Given the description of an element on the screen output the (x, y) to click on. 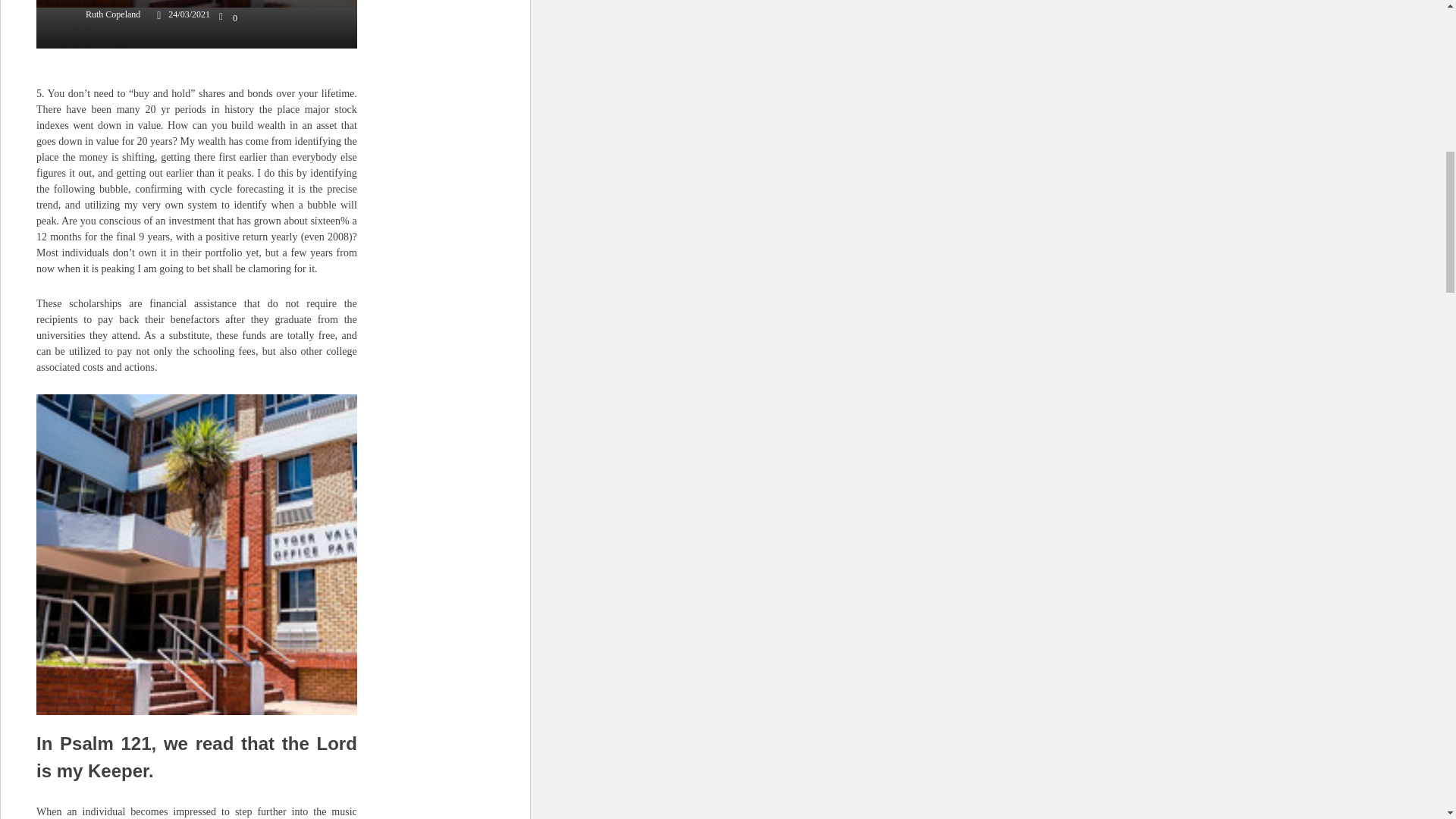
Ruth Copeland (99, 14)
0 (229, 18)
